Given the description of an element on the screen output the (x, y) to click on. 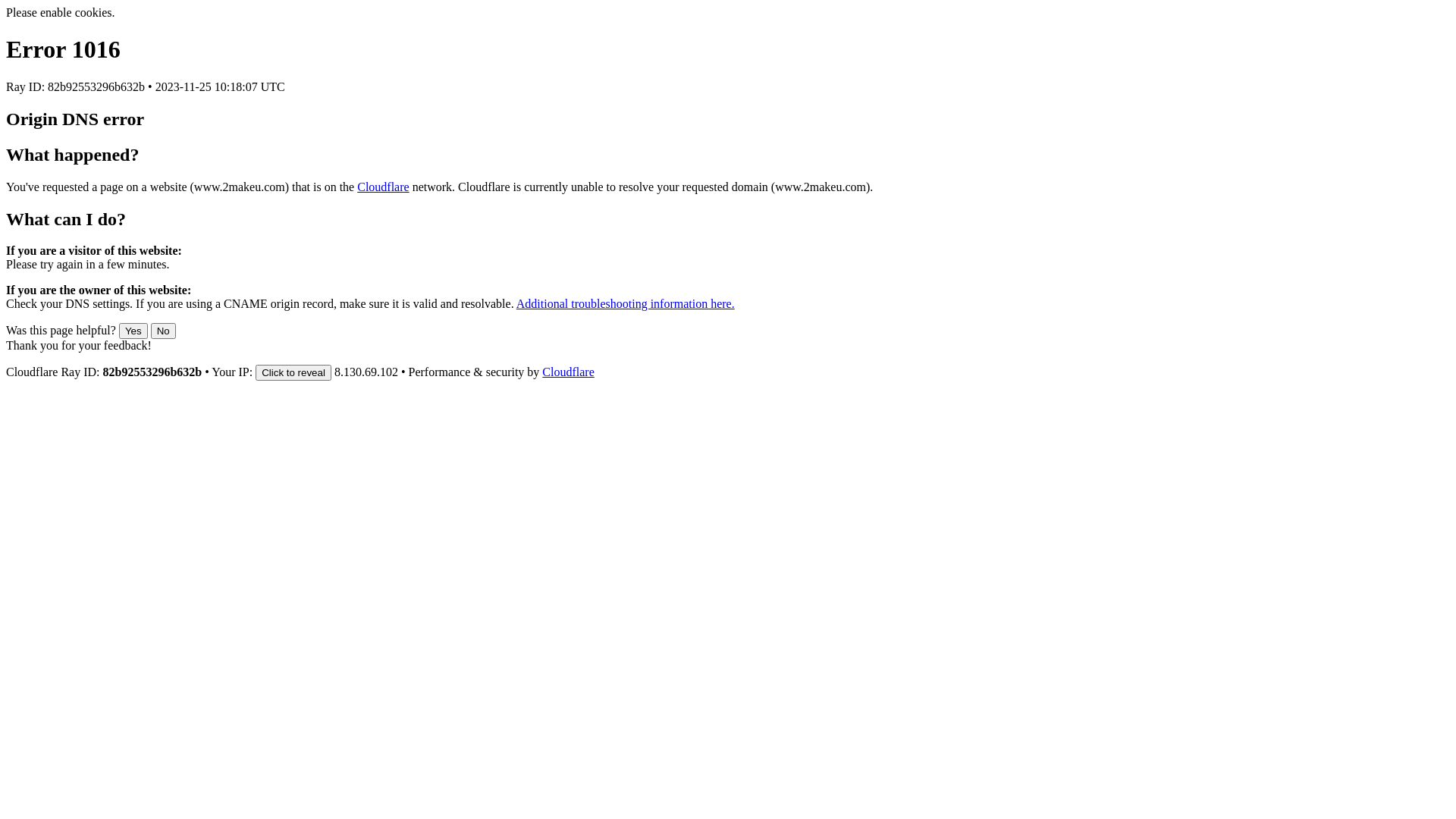
Cloudflare Element type: text (382, 186)
Yes Element type: text (133, 330)
Additional troubleshooting information here. Element type: text (625, 303)
No Element type: text (162, 330)
Cloudflare Element type: text (567, 371)
Click to reveal Element type: text (293, 372)
